Given the description of an element on the screen output the (x, y) to click on. 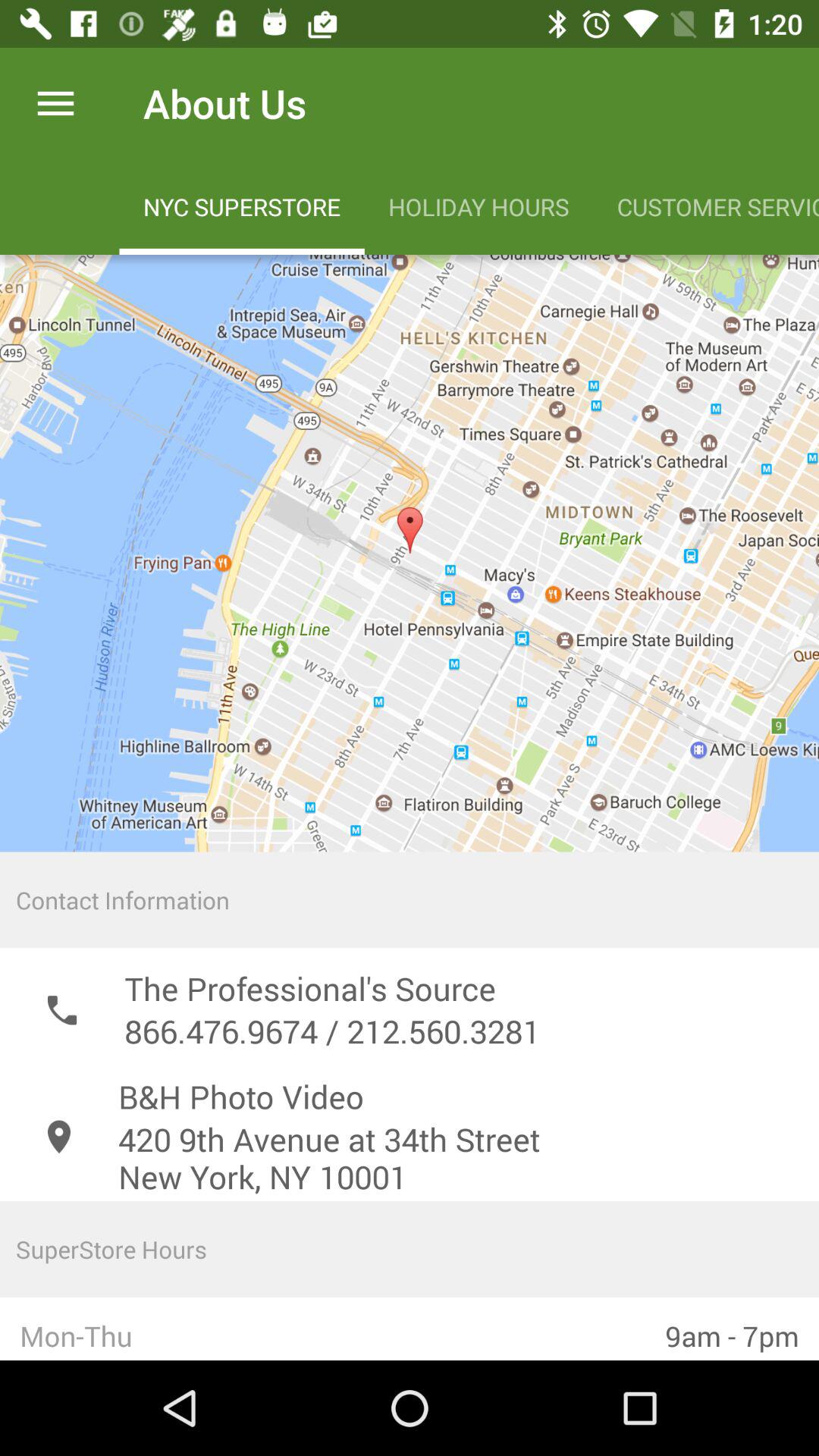
flip to the 9am - 7pm (732, 1328)
